Given the description of an element on the screen output the (x, y) to click on. 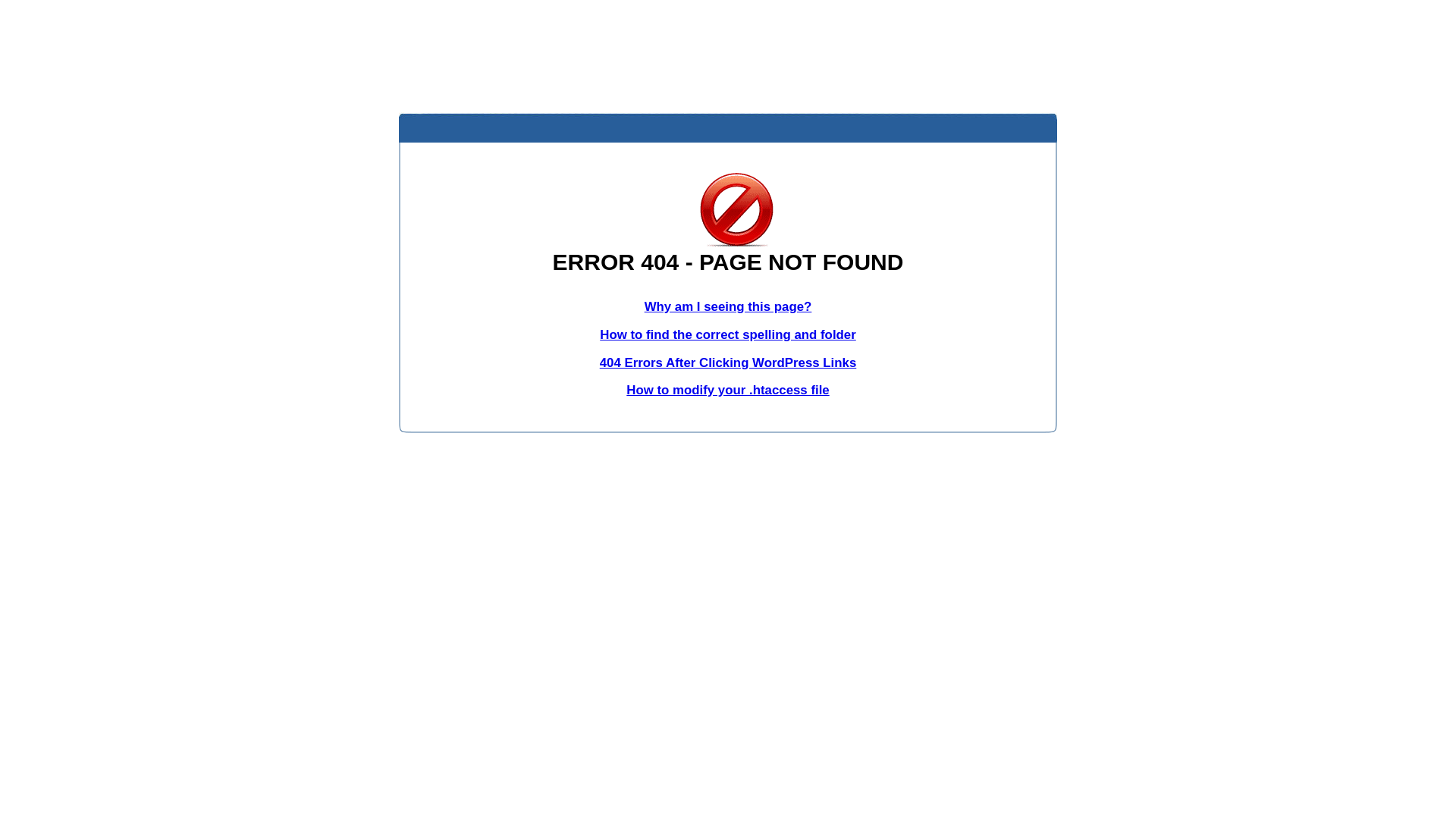
404 Errors After Clicking WordPress Links Element type: text (727, 362)
How to find the correct spelling and folder Element type: text (727, 334)
How to modify your .htaccess file Element type: text (727, 389)
Why am I seeing this page? Element type: text (728, 306)
